Given the description of an element on the screen output the (x, y) to click on. 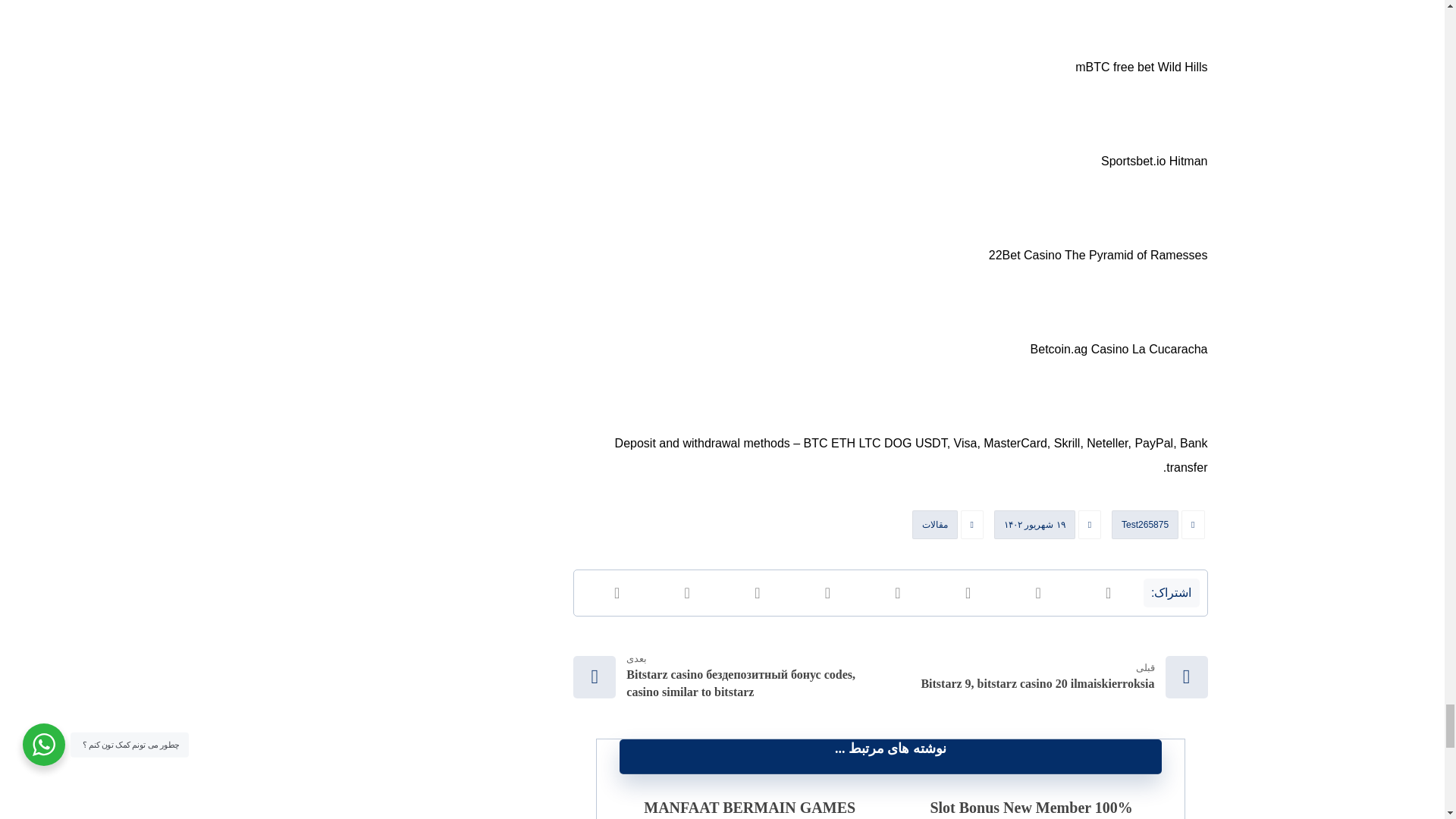
Published on (1048, 528)
Posted by (1159, 528)
Test265875 (1144, 524)
